Given the description of an element on the screen output the (x, y) to click on. 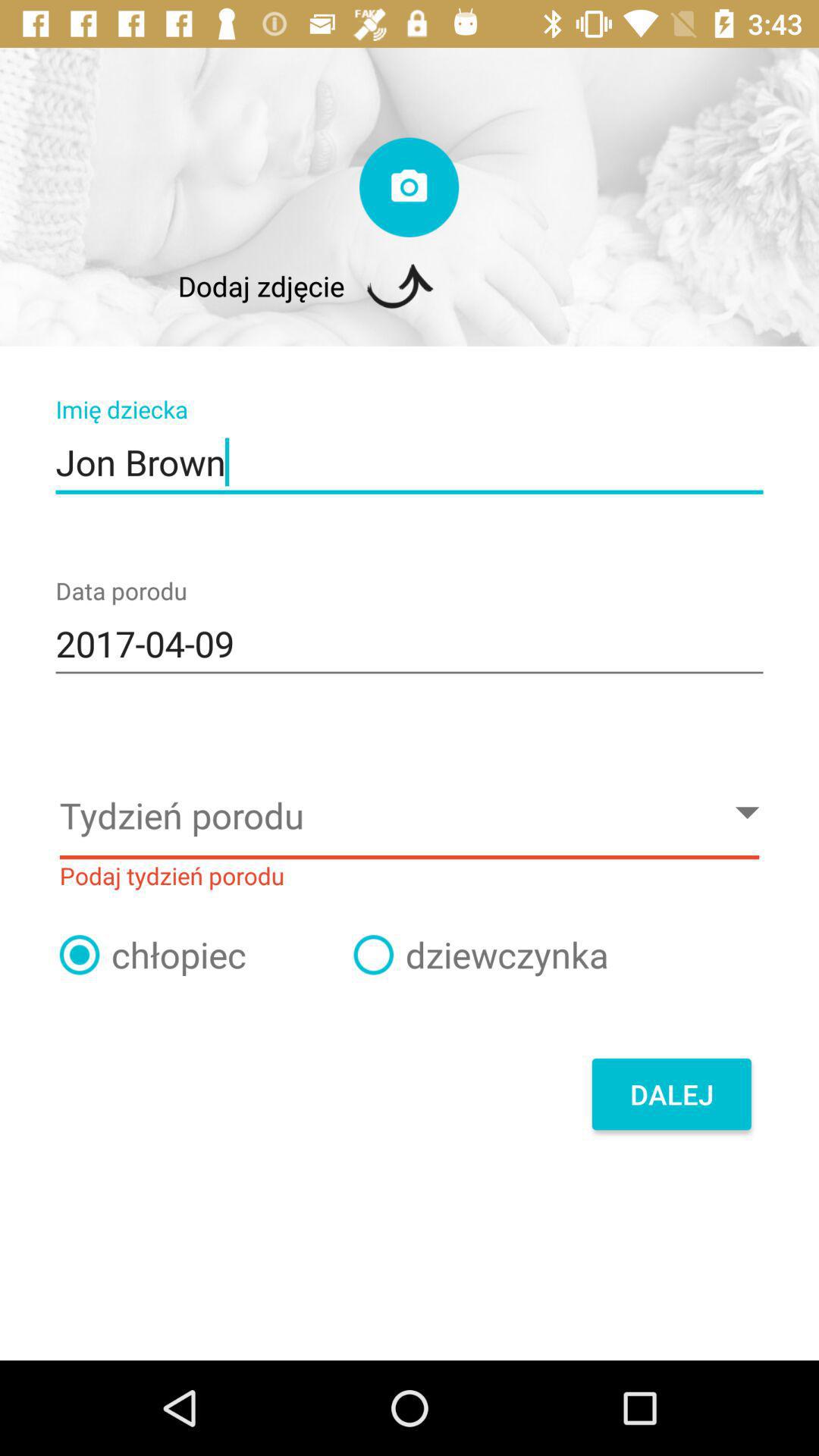
click chlopiec option (79, 954)
